Given the description of an element on the screen output the (x, y) to click on. 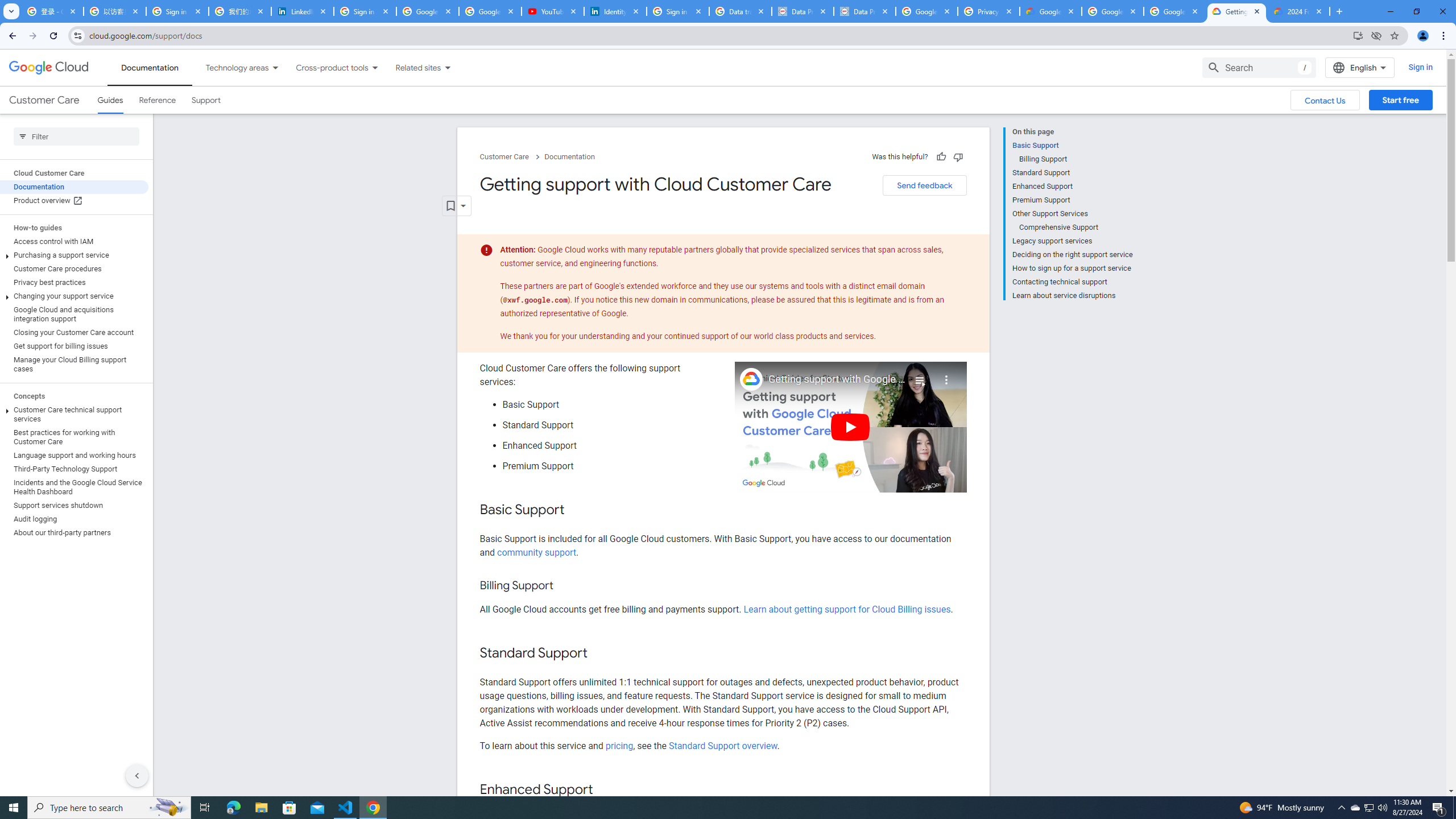
Google Cloud and acquisitions integration support (74, 314)
Basic Support (1071, 145)
Support services shutdown (74, 505)
Learn about getting support for Cloud Billing issues (847, 609)
Best practices for working with Customer Care (74, 436)
Copy link to this section: Enhanced Support (603, 789)
Customer Care technical support services (74, 413)
Changing your support service (74, 296)
Legacy support services (1071, 241)
Photo image of Google Cloud Tech (750, 378)
Sign in - Google Accounts (365, 11)
Send feedback (924, 185)
Type to filter (76, 136)
